Given the description of an element on the screen output the (x, y) to click on. 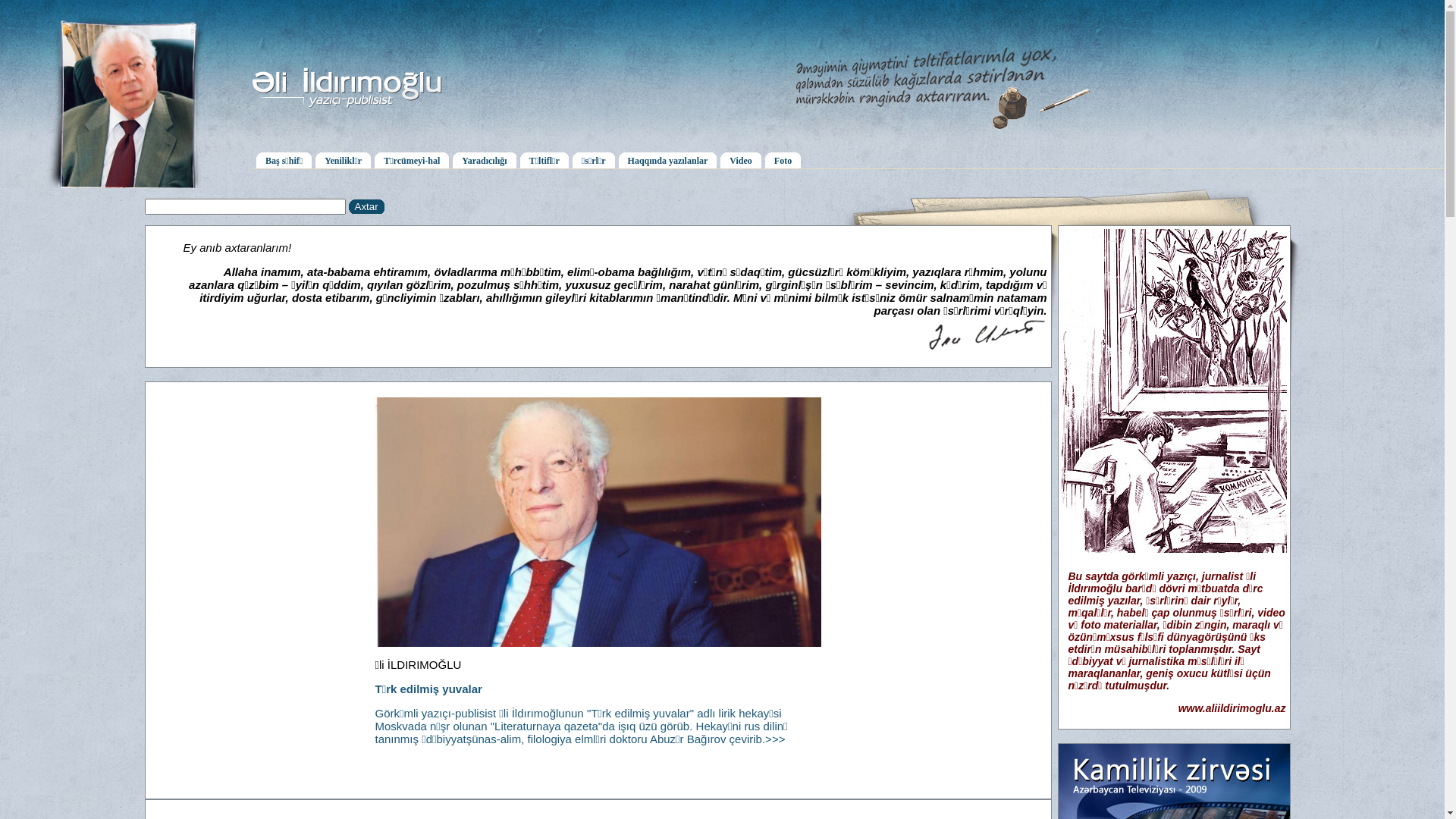
Axtar Element type: text (366, 206)
Foto Element type: text (782, 159)
Video Element type: text (740, 159)
